Given the description of an element on the screen output the (x, y) to click on. 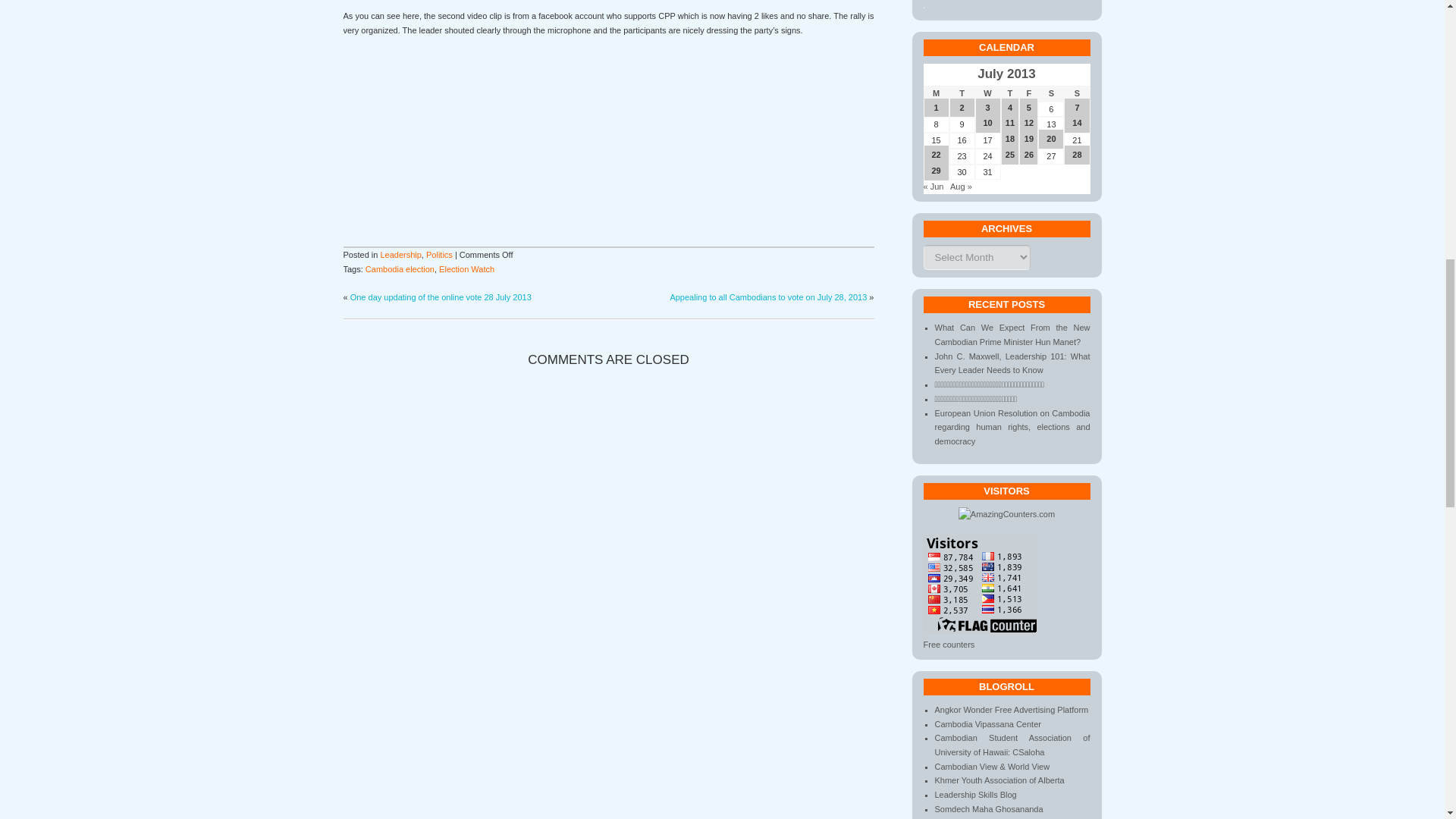
Thursday (1010, 93)
Friday (1028, 93)
Saturday (1051, 93)
Wednesday (988, 93)
Tuesday (962, 93)
Sunday (1076, 93)
Monday (936, 93)
